Given the description of an element on the screen output the (x, y) to click on. 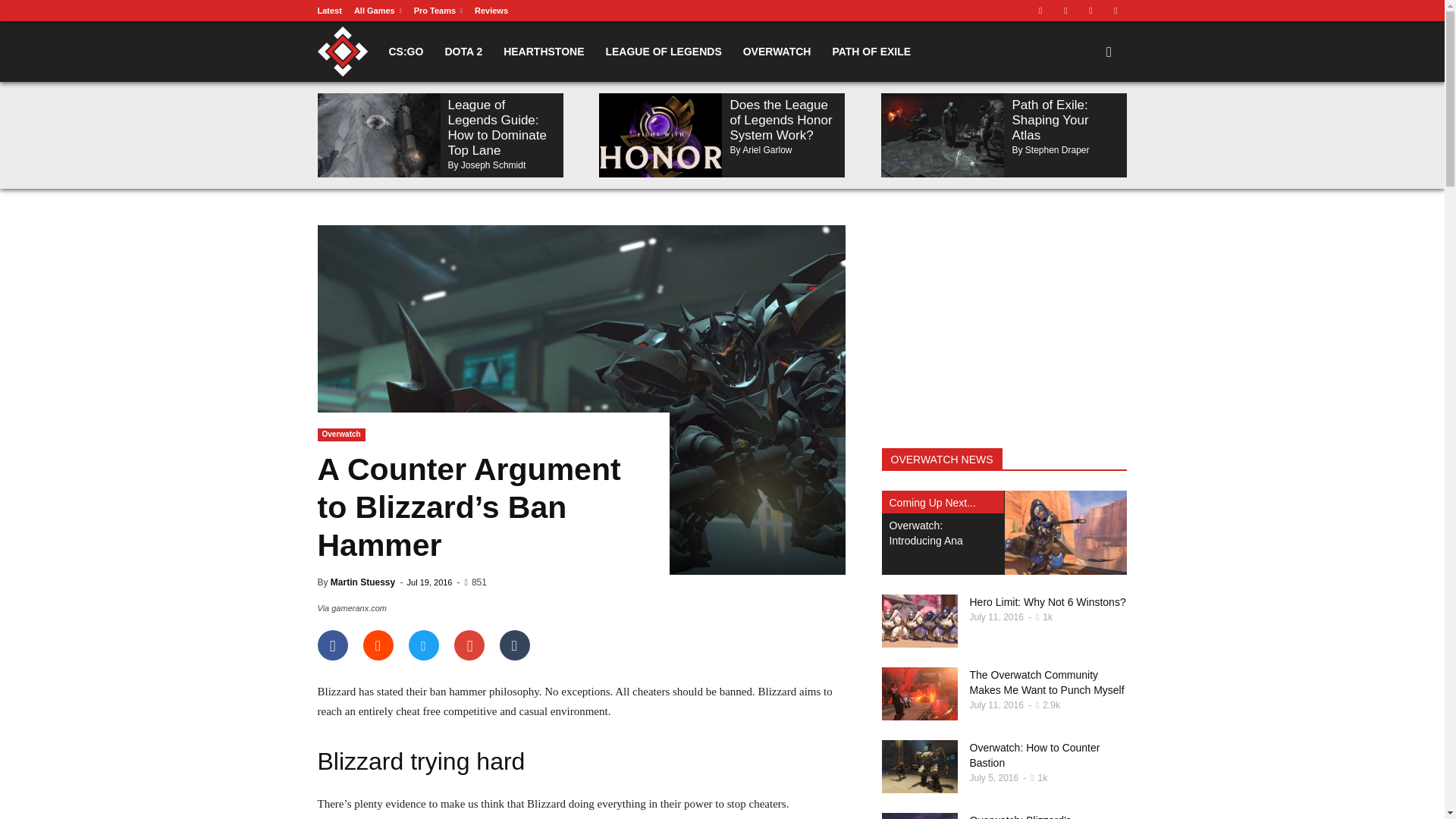
Twitch (1065, 10)
Youtube (1114, 10)
Twitter (1090, 10)
Latest (328, 10)
Pro Teams (438, 10)
Facebook (1040, 10)
Does the League of Legends Honor System Work? (780, 119)
Esports Edition (392, 51)
All Games (377, 10)
League of Legends Guide: How to Dominate Top Lane (378, 135)
Reviews (491, 10)
Does the League of Legends Honor System Work? (660, 135)
League of Legends Guide: How to Dominate Top Lane (496, 127)
Path of Exile: Shaping Your Atlas (942, 135)
